Given the description of an element on the screen output the (x, y) to click on. 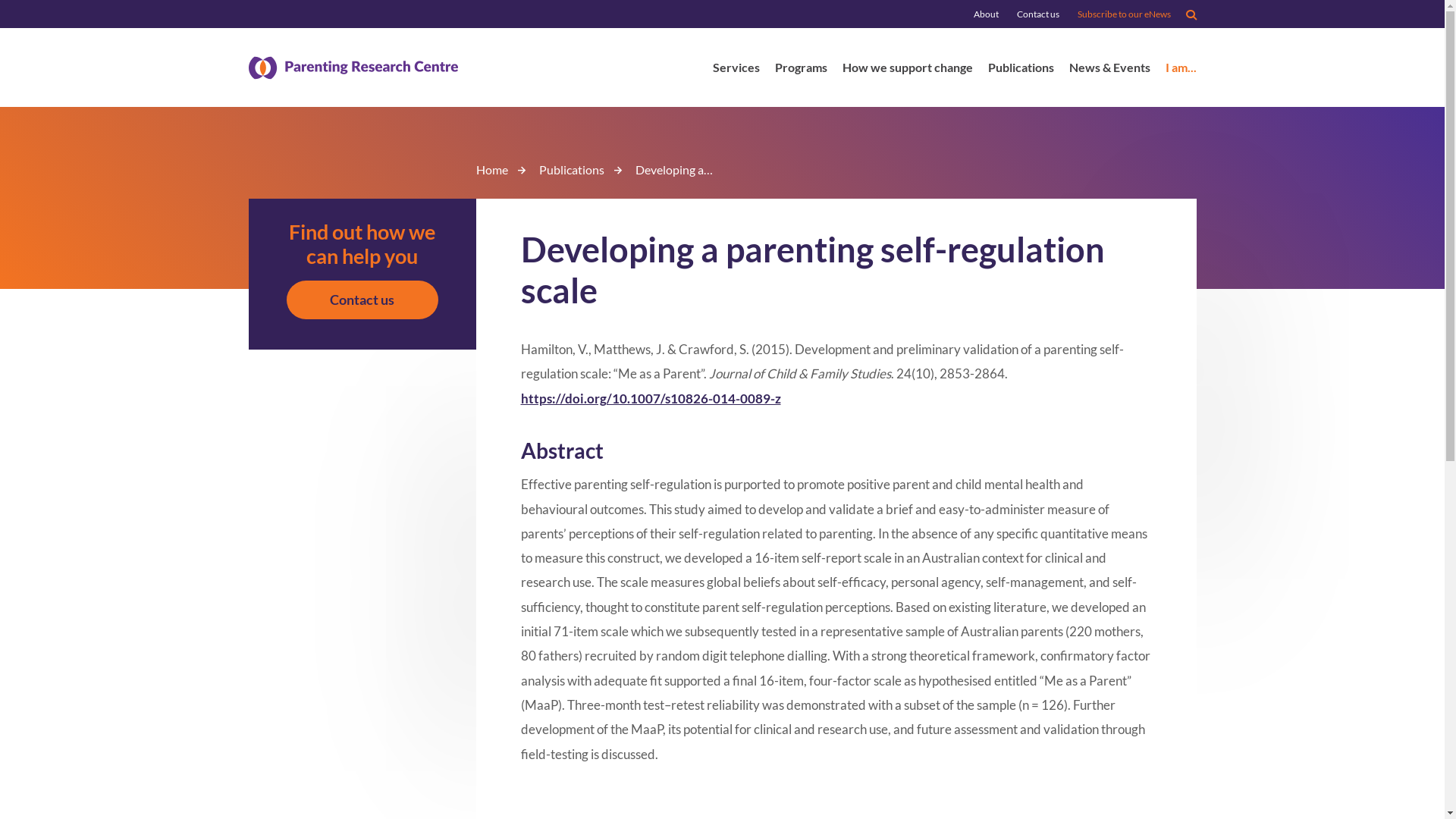
About Element type: text (985, 13)
Programs Element type: text (801, 68)
How we support change Element type: text (906, 68)
News & Events Element type: text (1109, 68)
Publications Element type: text (570, 169)
https://doi.org/10.1007/s10826-014-0089-z Element type: text (650, 398)
Contact us Element type: text (362, 300)
Contact us Element type: text (1037, 13)
Home Element type: text (492, 169)
I am... Element type: text (1179, 68)
Publications Element type: text (1020, 68)
Subscribe to our eNews Element type: text (1123, 13)
Services Element type: text (735, 68)
